Given the description of an element on the screen output the (x, y) to click on. 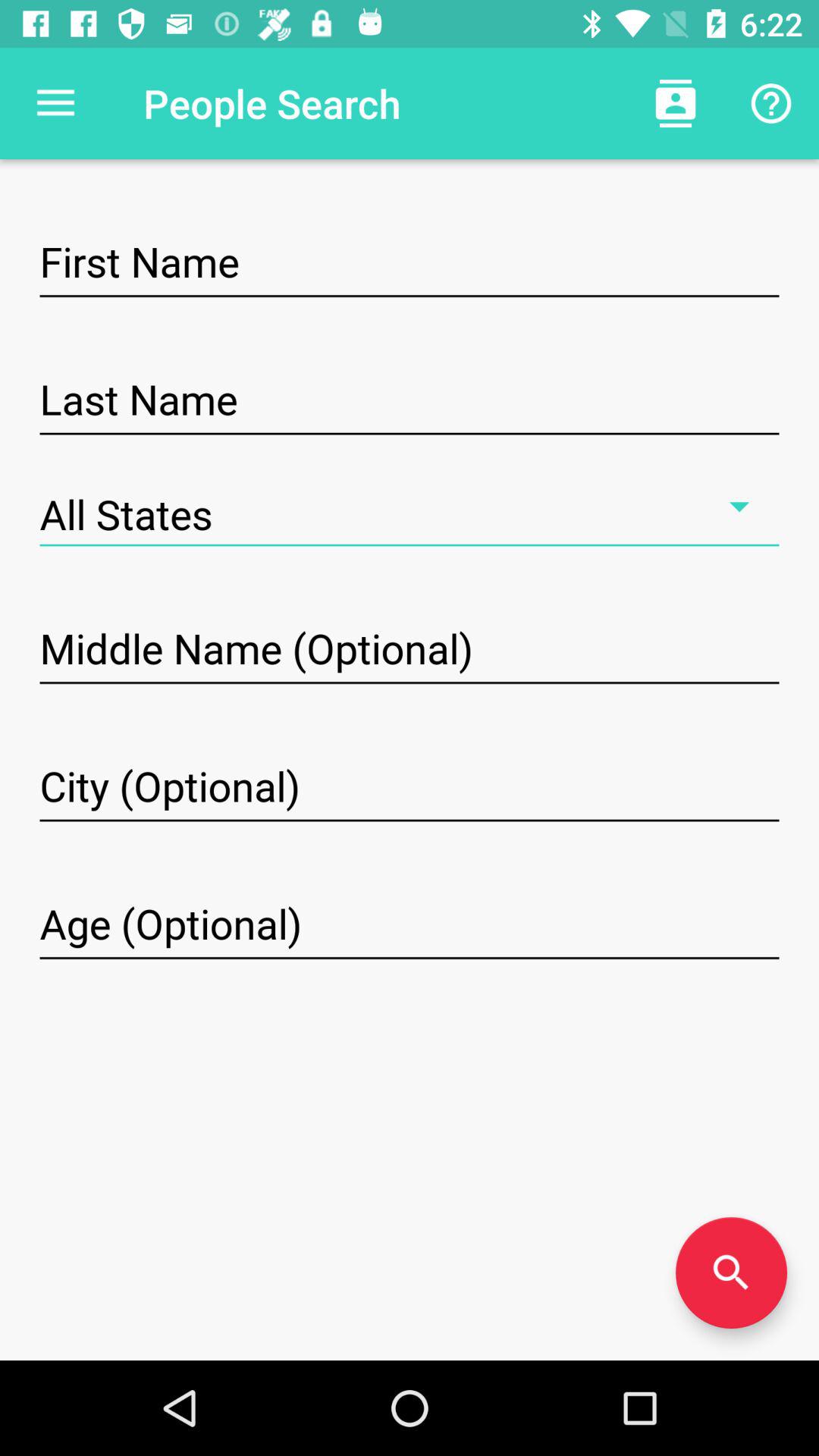
launch icon next to people search (55, 103)
